Given the description of an element on the screen output the (x, y) to click on. 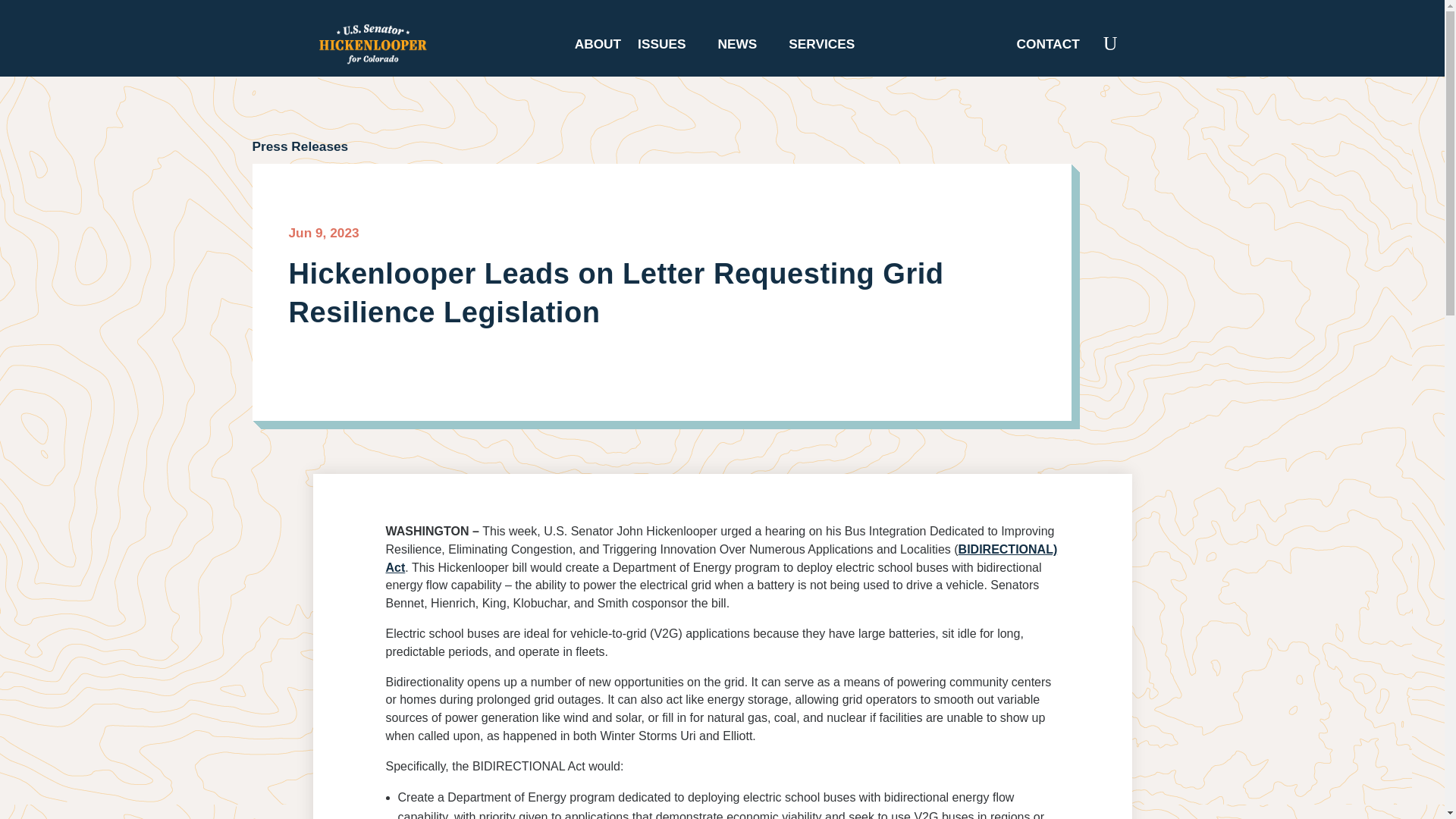
SERVICES (829, 46)
ABOUT (598, 46)
NEWS (744, 46)
ISSUES (668, 46)
